Given the description of an element on the screen output the (x, y) to click on. 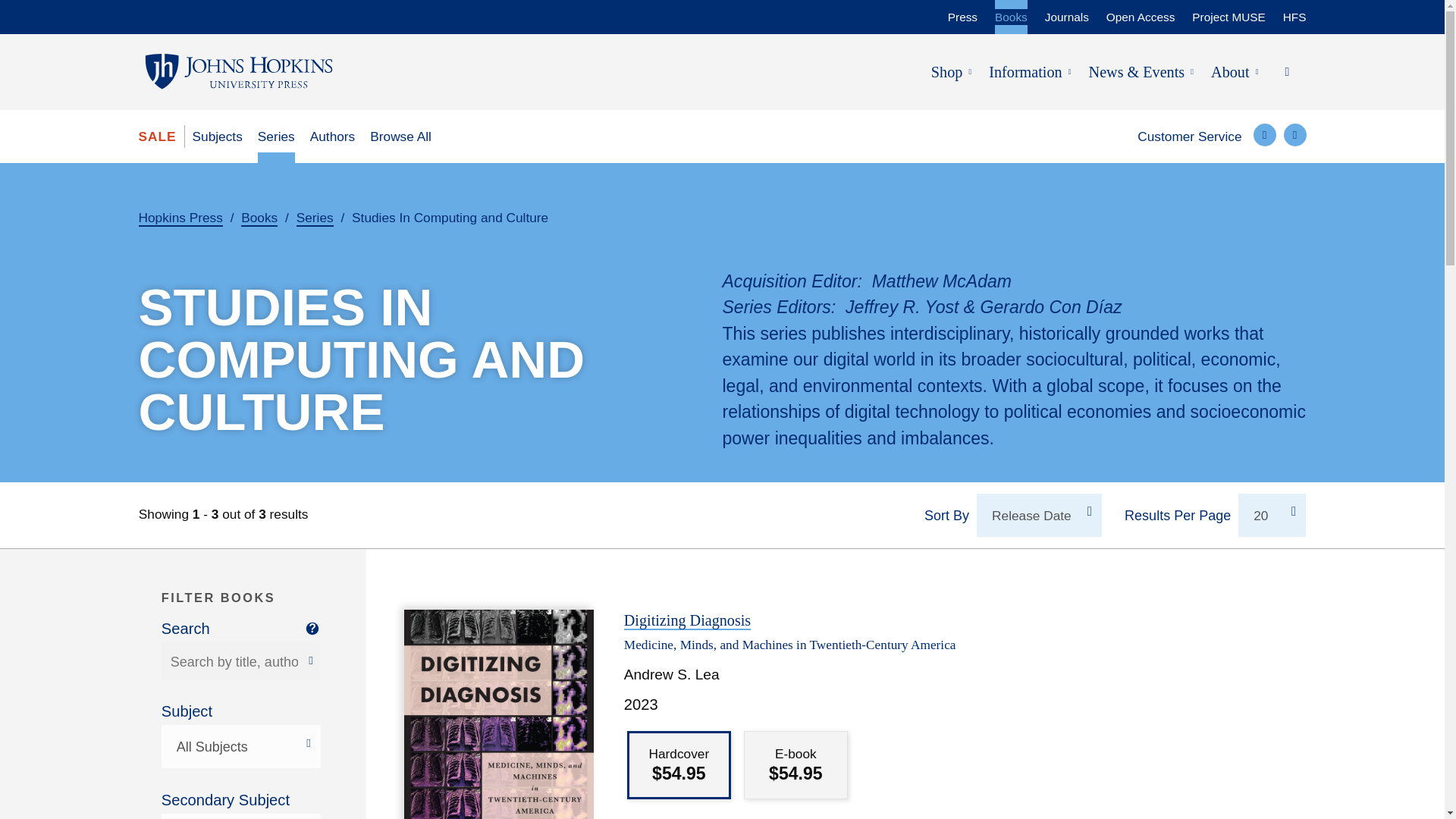
Journals (1067, 12)
Information (1024, 71)
Books (1010, 12)
Open Access (1140, 12)
Shop (946, 71)
HFS (1294, 12)
Press (961, 12)
JHU Press (237, 71)
Project MUSE (1228, 12)
